Given the description of an element on the screen output the (x, y) to click on. 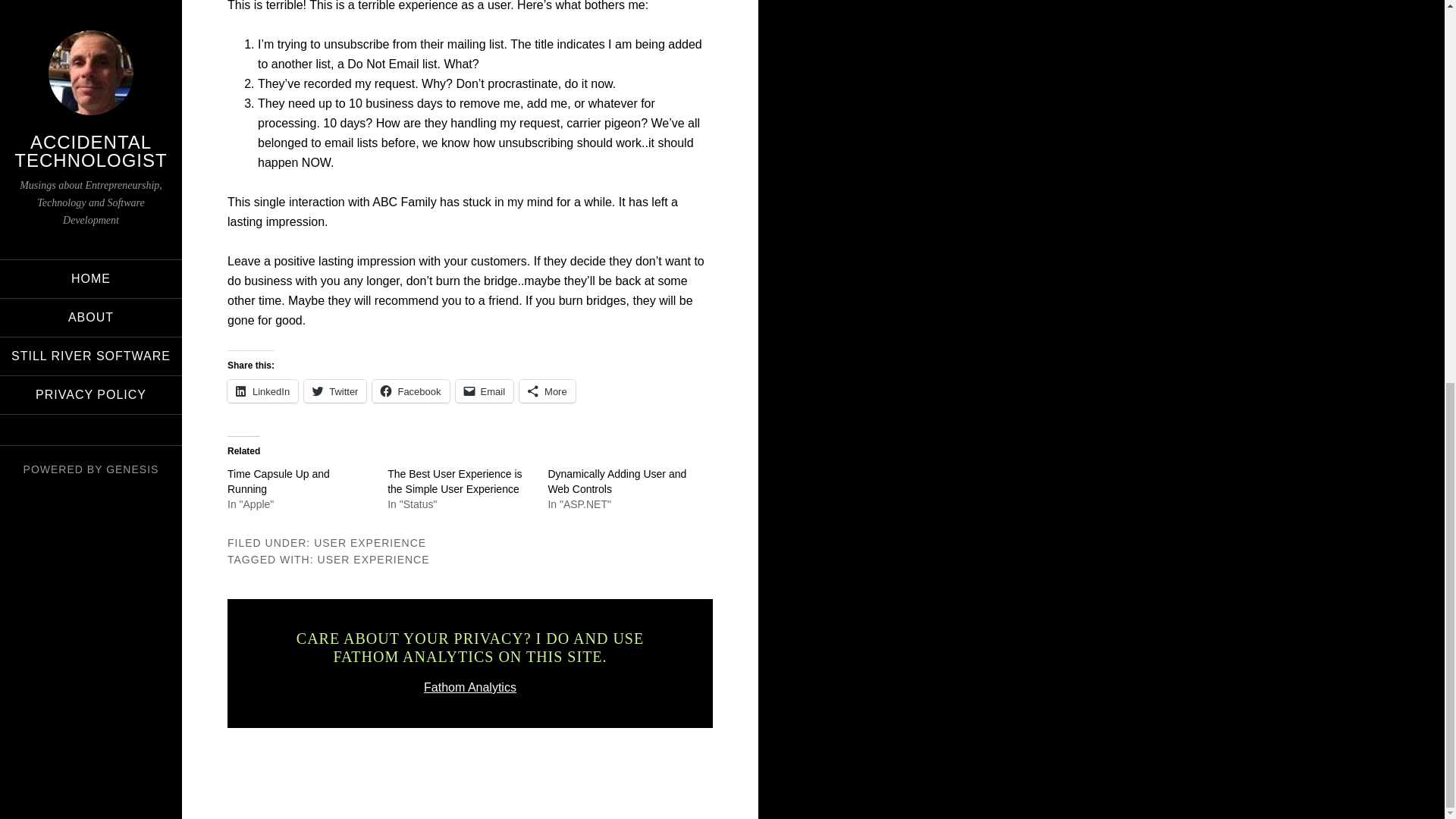
Click to share on LinkedIn (262, 391)
Fathom Analytics (469, 686)
Facebook (410, 391)
The Best User Experience is the Simple User Experience (454, 481)
Time Capsule Up and Running (278, 481)
LinkedIn (262, 391)
Click to share on Facebook (410, 391)
Dynamically Adding User and Web Controls (616, 481)
USER EXPERIENCE (373, 559)
Click to email a link to a friend (484, 391)
USER EXPERIENCE (370, 542)
Email (484, 391)
Click to share on Twitter (335, 391)
The Best User Experience is the Simple User Experience (454, 481)
Time Capsule Up and Running (278, 481)
